Given the description of an element on the screen output the (x, y) to click on. 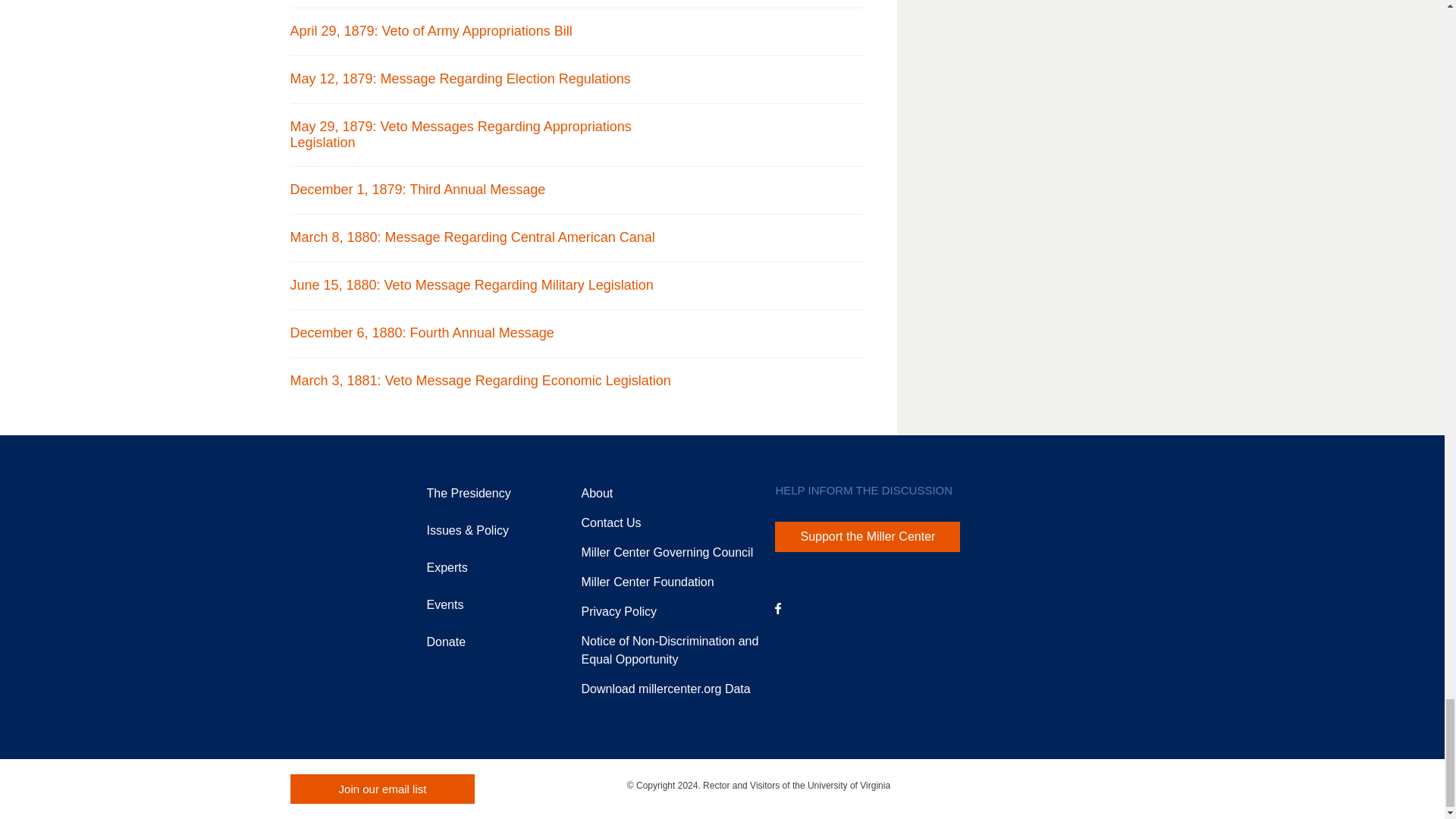
Support (646, 581)
Home (321, 515)
Miller Center Web Privacy Policy (618, 611)
